Given the description of an element on the screen output the (x, y) to click on. 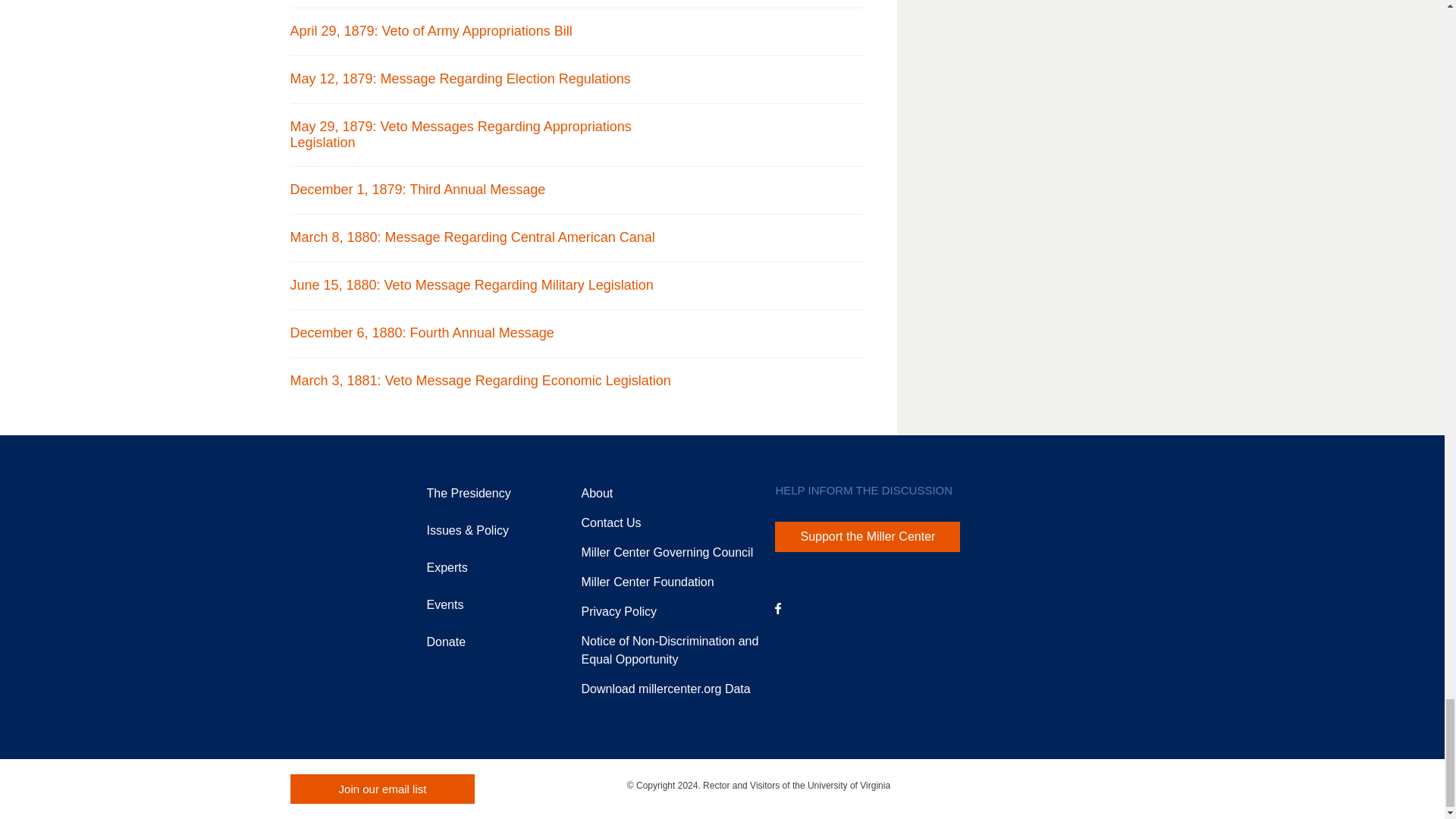
Support (646, 581)
Home (321, 515)
Miller Center Web Privacy Policy (618, 611)
